Given the description of an element on the screen output the (x, y) to click on. 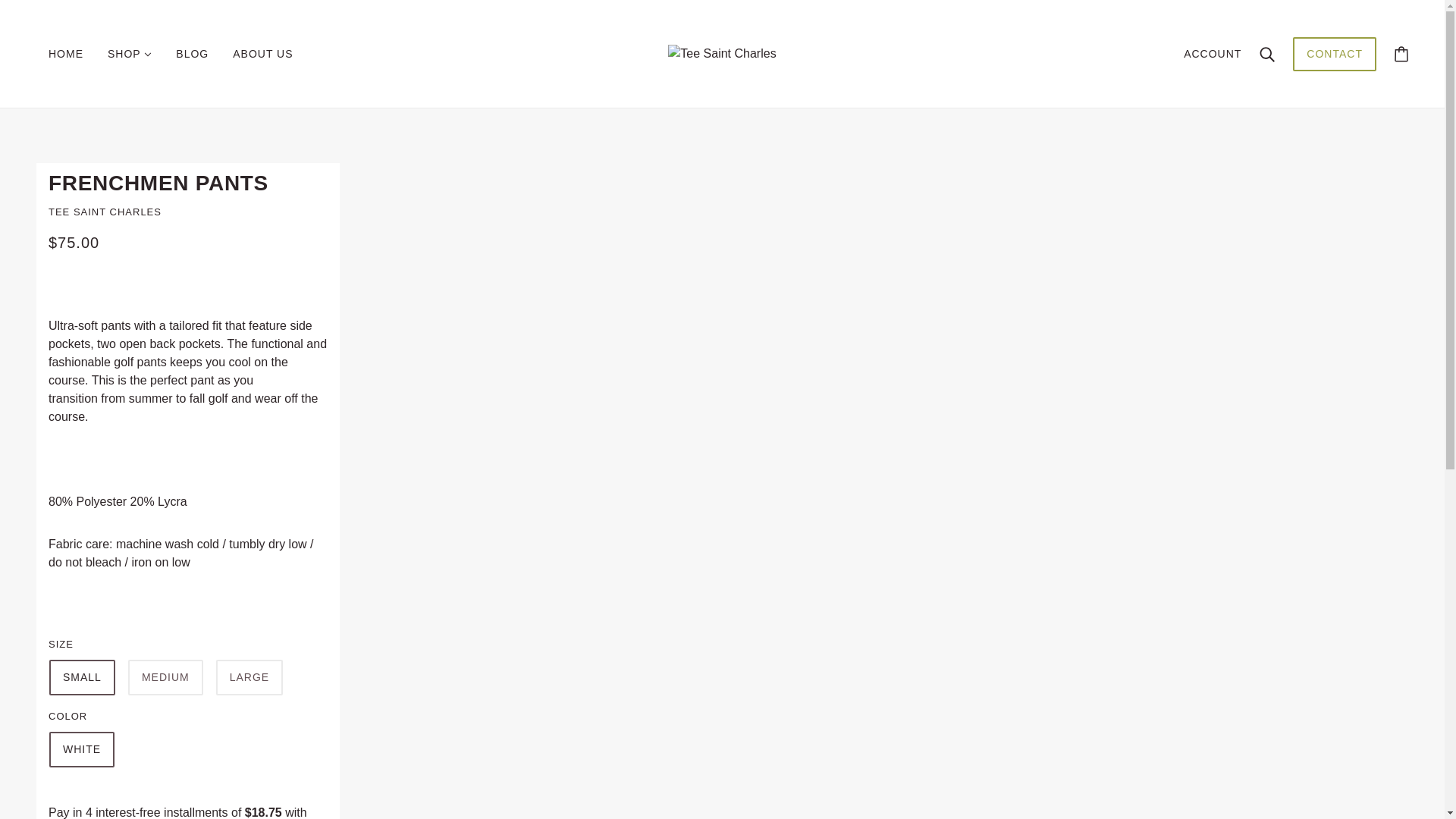
ABOUT US (262, 53)
SHOP (129, 53)
CONTACT (1333, 60)
TEE SAINT CHARLES (104, 211)
BLOG (192, 53)
ACCOUNT (1212, 53)
HOME (66, 53)
Tee Saint Charles (722, 52)
